Given the description of an element on the screen output the (x, y) to click on. 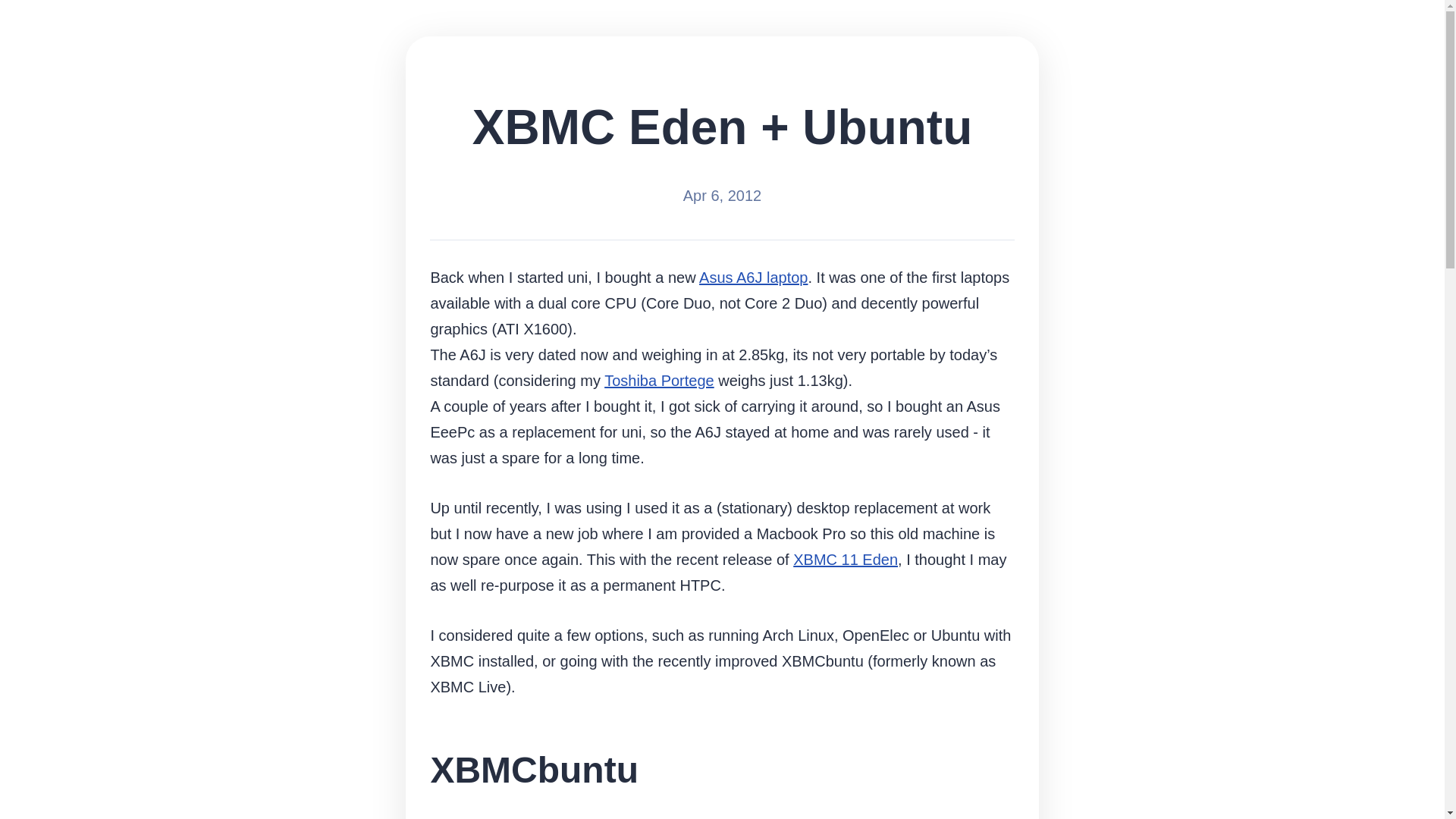
Toshiba Portege (659, 380)
Asus A6J laptop (753, 277)
XBMC 11 Eden (845, 559)
